Given the description of an element on the screen output the (x, y) to click on. 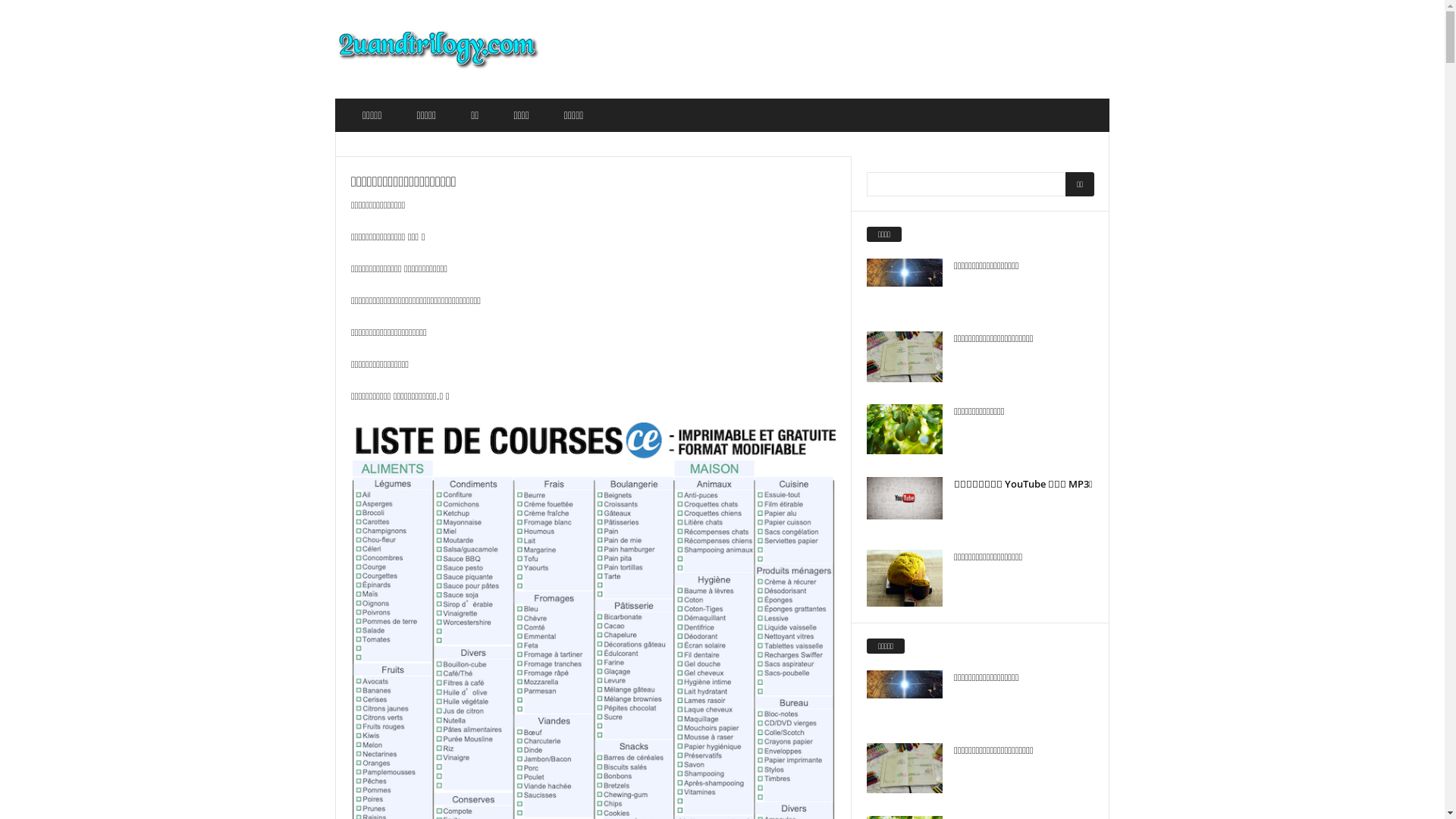
2uandtrilogy.com Element type: text (438, 49)
